Given the description of an element on the screen output the (x, y) to click on. 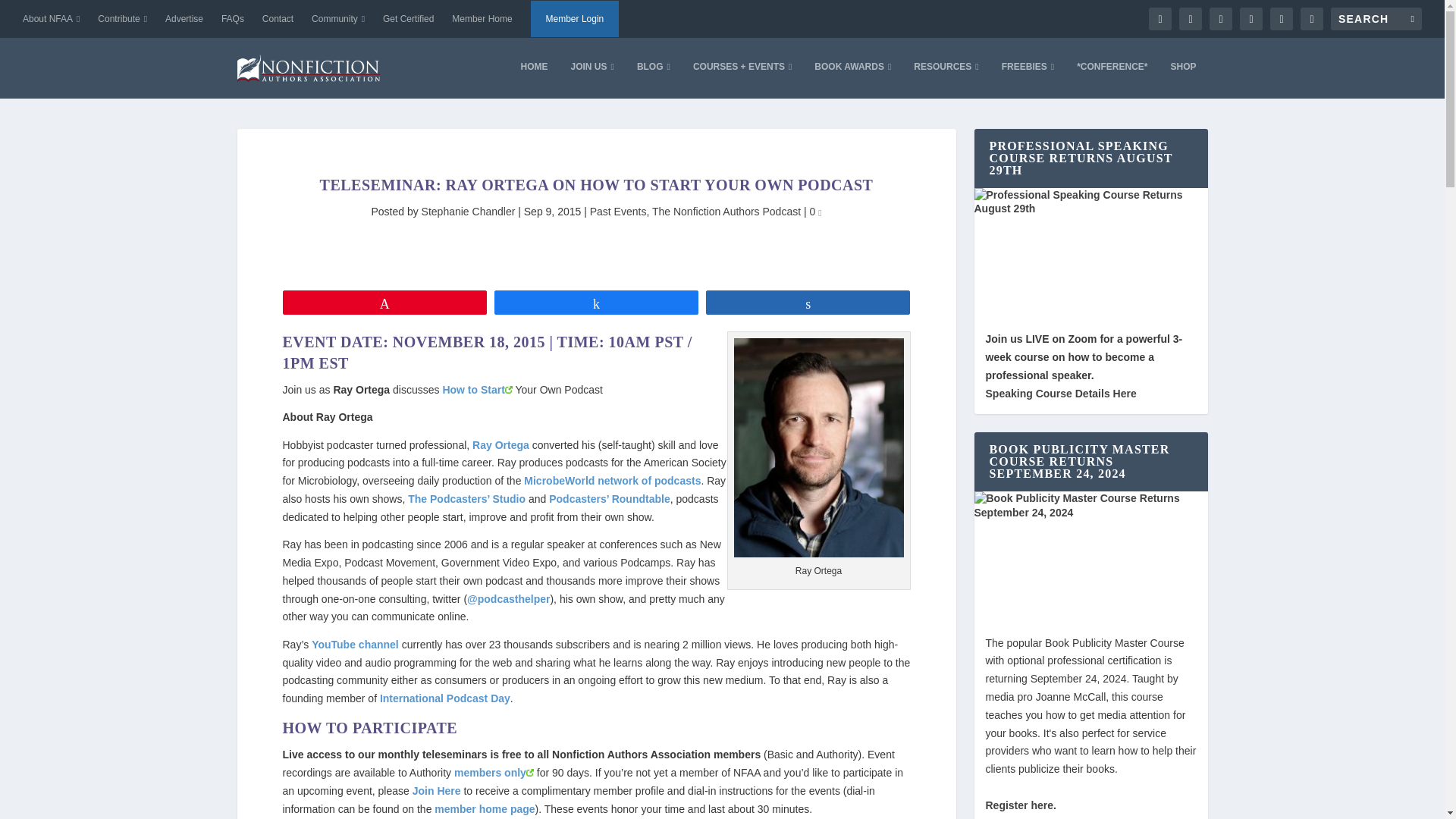
About NFAA (51, 18)
Member Login (575, 18)
Posts by Stephanie Chandler (468, 211)
Advertise (184, 18)
JOIN US (591, 79)
Get Certified (407, 18)
Contribute (122, 18)
Member Home (481, 18)
Search for: (1376, 18)
Community (338, 18)
